Given the description of an element on the screen output the (x, y) to click on. 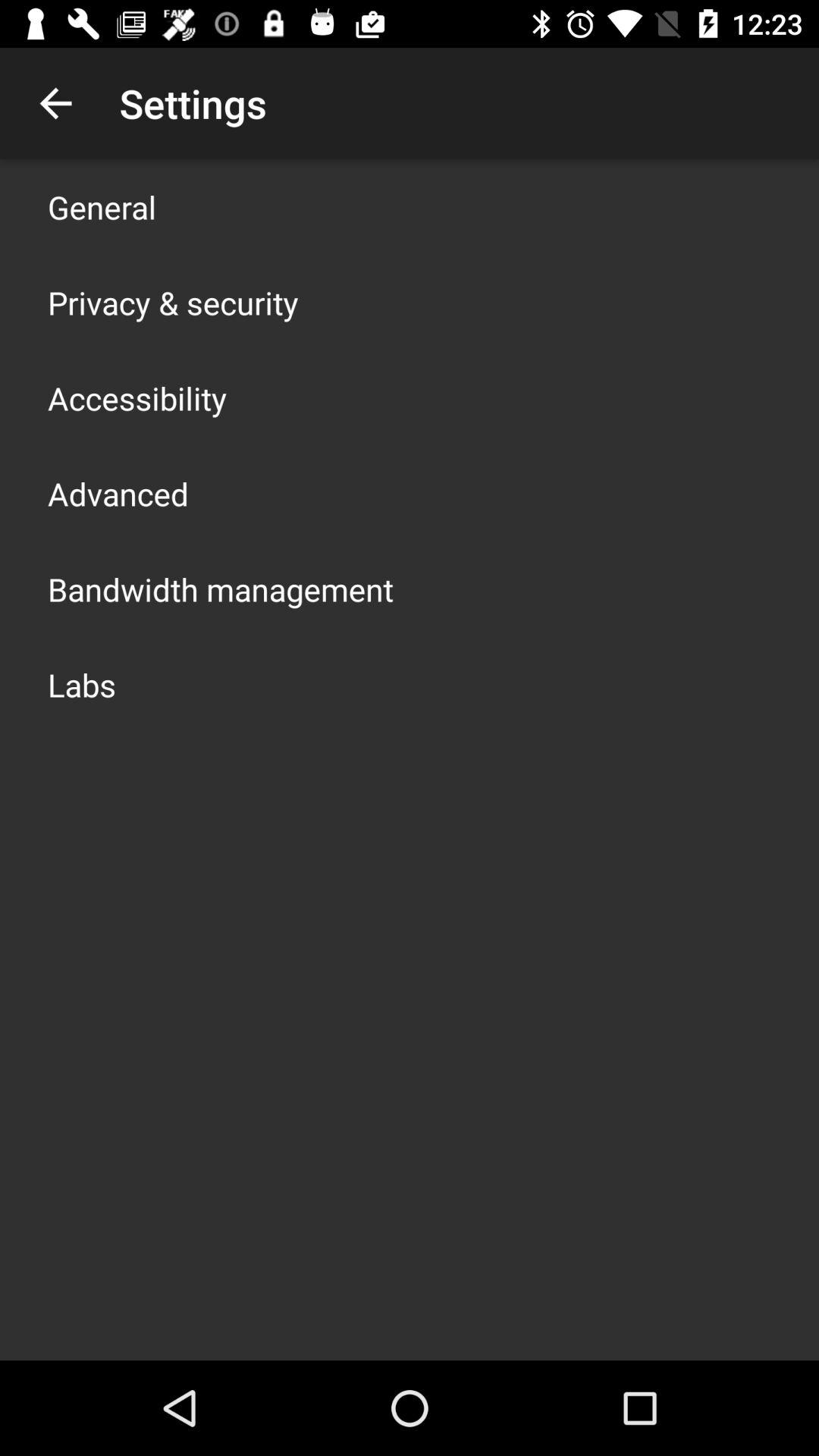
choose the item to the left of settings item (55, 103)
